Given the description of an element on the screen output the (x, y) to click on. 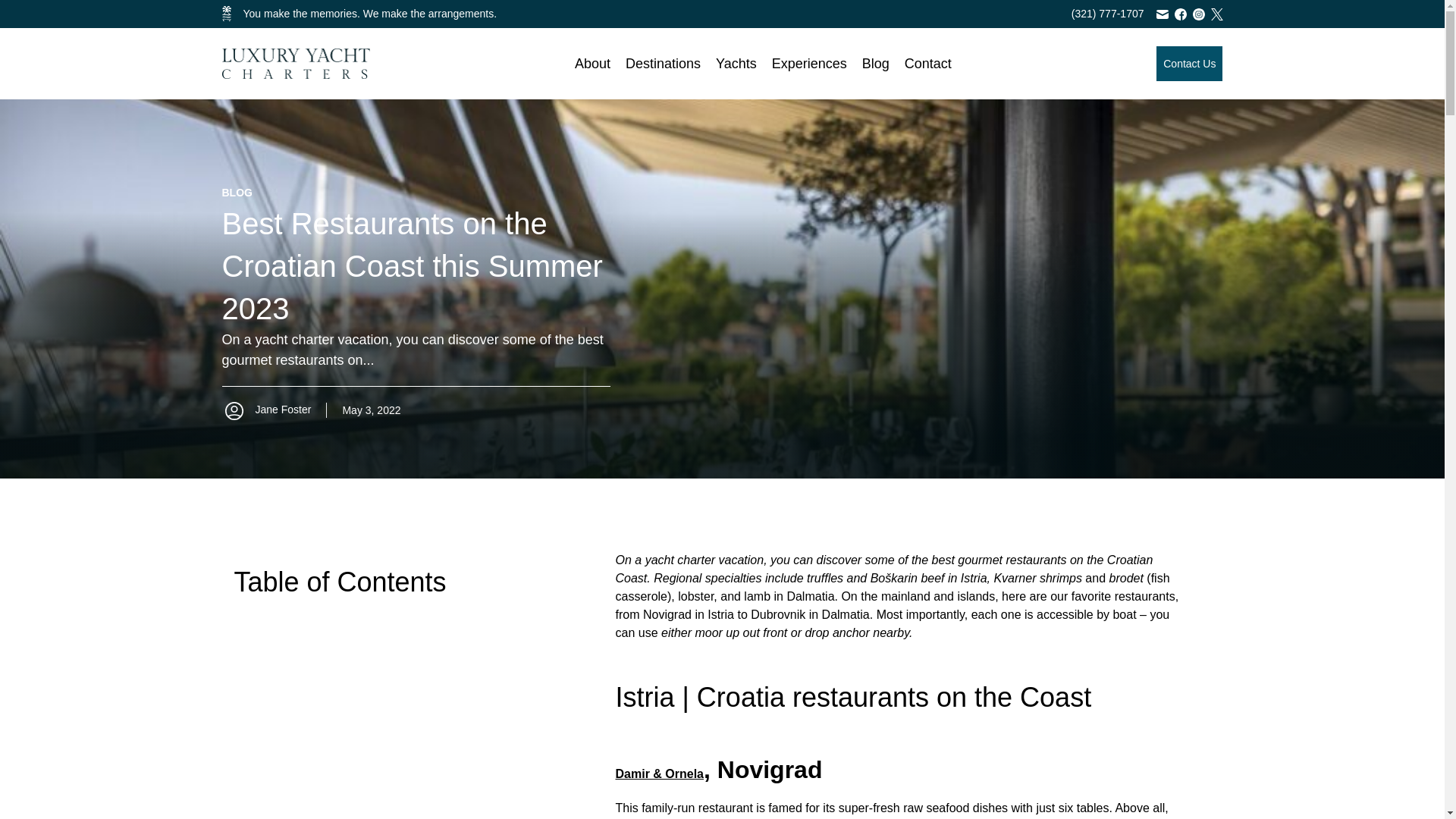
Posts by Jane Foster (266, 409)
Contact Us (1189, 63)
email (1161, 13)
Yachts (736, 63)
Instagram profile (1198, 13)
About (592, 63)
Destinations (663, 63)
Blog (875, 63)
Contact (928, 63)
Facebook profile (1179, 13)
Experiences (809, 63)
Twitter profile (1216, 13)
BLOG (236, 192)
Jane Foster (266, 409)
Luxury Yacht Charters home (295, 63)
